Given the description of an element on the screen output the (x, y) to click on. 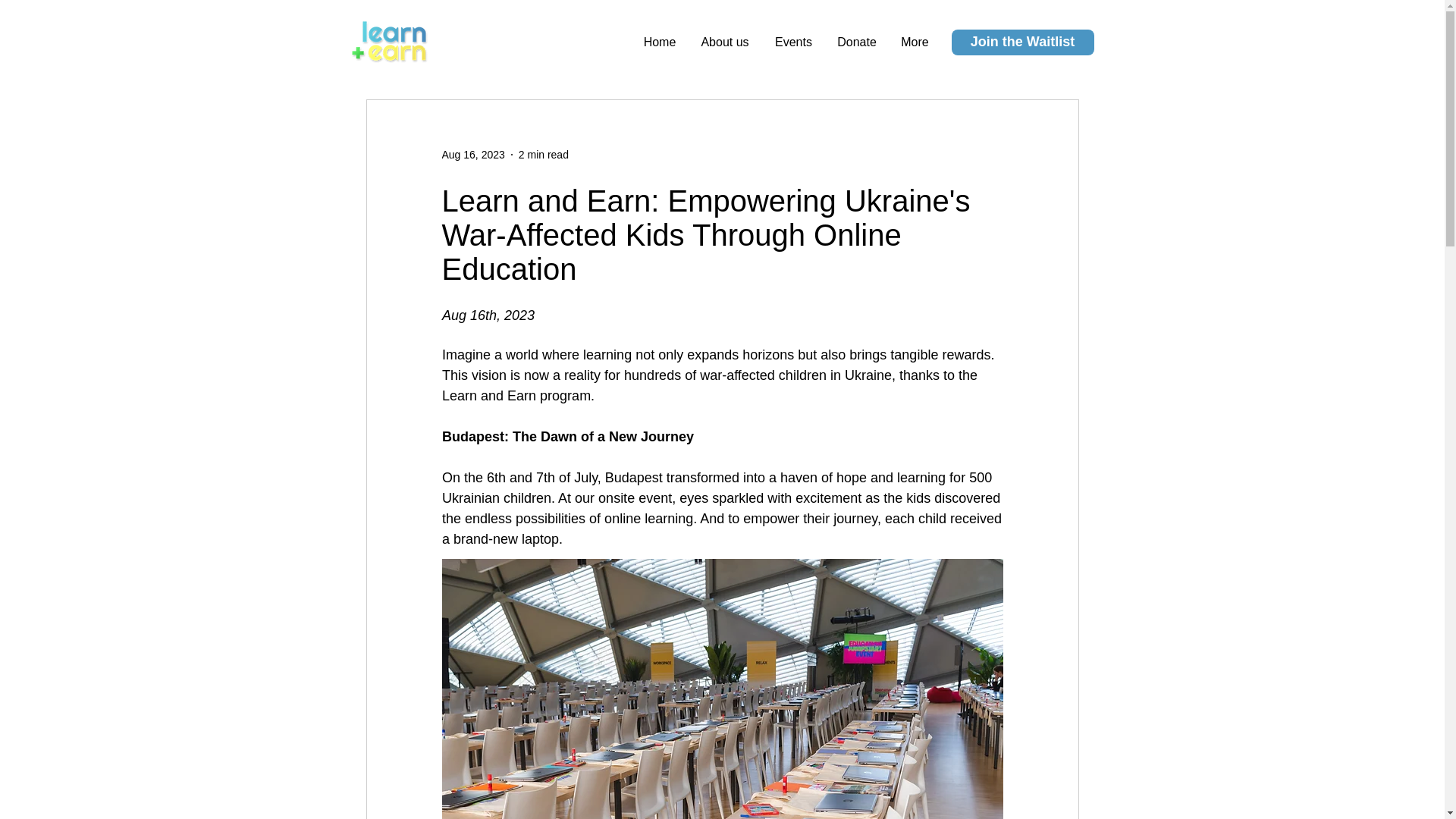
Donate (857, 42)
Events (793, 42)
Home (659, 42)
Aug 16, 2023 (472, 154)
About us (724, 42)
2 min read (543, 154)
Join the Waitlist (1021, 42)
